Given the description of an element on the screen output the (x, y) to click on. 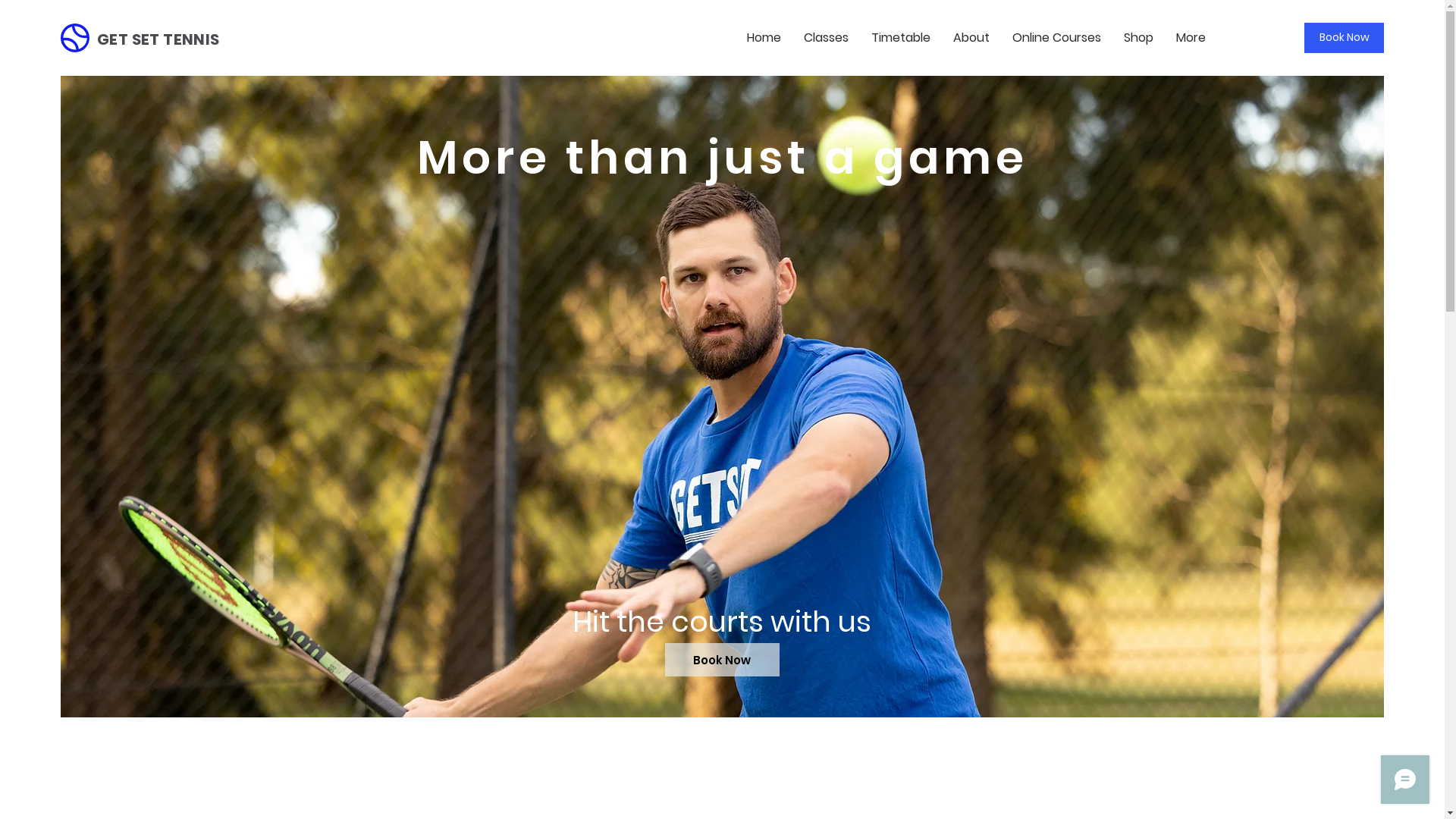
Classes Element type: text (825, 37)
Home Element type: text (763, 37)
Timetable Element type: text (900, 37)
Book Now Element type: text (721, 659)
Online Courses Element type: text (1056, 37)
About Element type: text (971, 37)
Shop Element type: text (1138, 37)
GET SET TENNIS Element type: text (158, 39)
Book Now Element type: text (1343, 37)
